Given the description of an element on the screen output the (x, y) to click on. 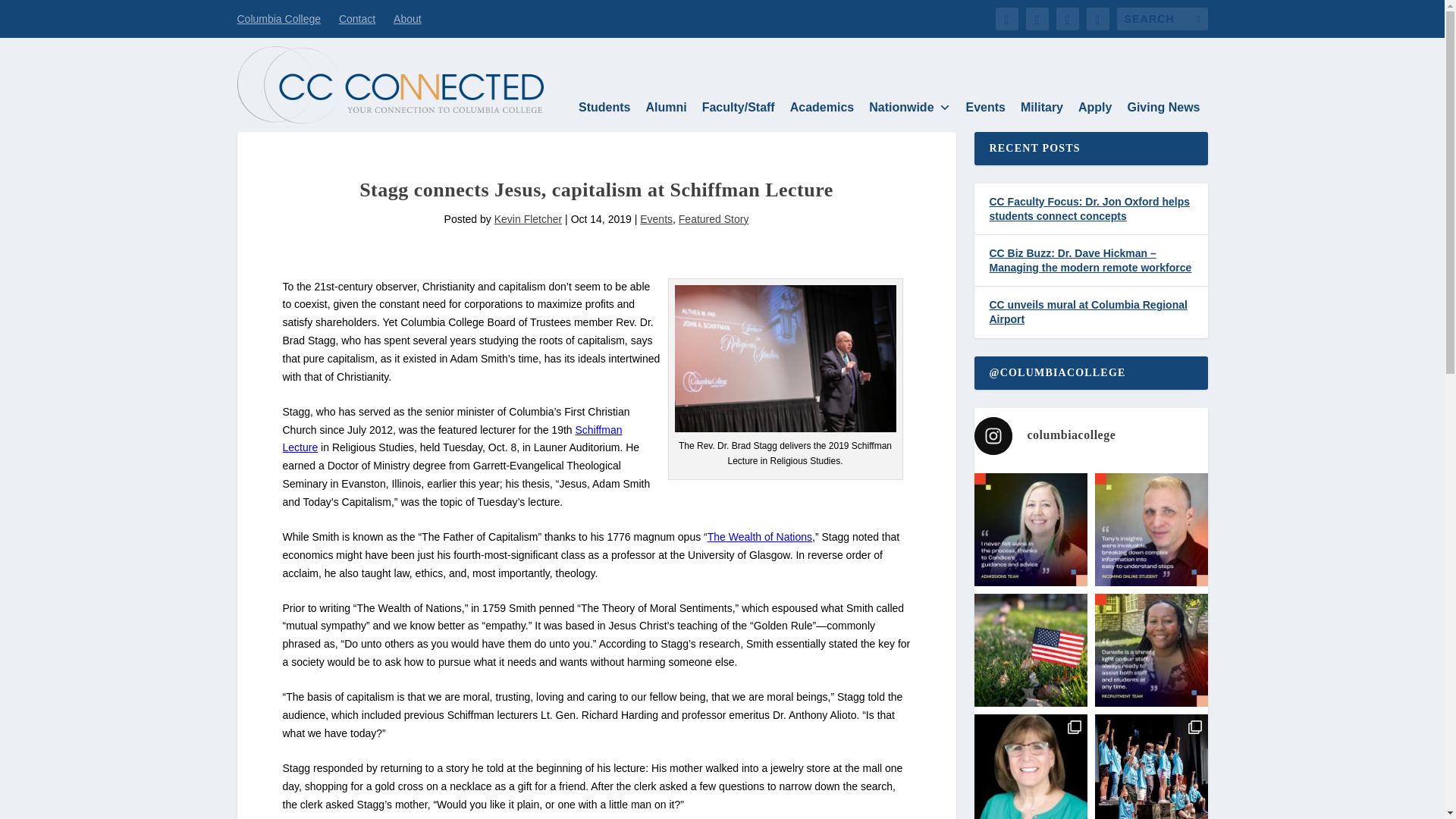
Students (603, 107)
Columbia College (277, 18)
Posts by Kevin Fletcher (528, 218)
Search for: (1161, 18)
Alumni (665, 107)
Contact (357, 18)
Nationwide (909, 107)
Academics (822, 107)
